Given the description of an element on the screen output the (x, y) to click on. 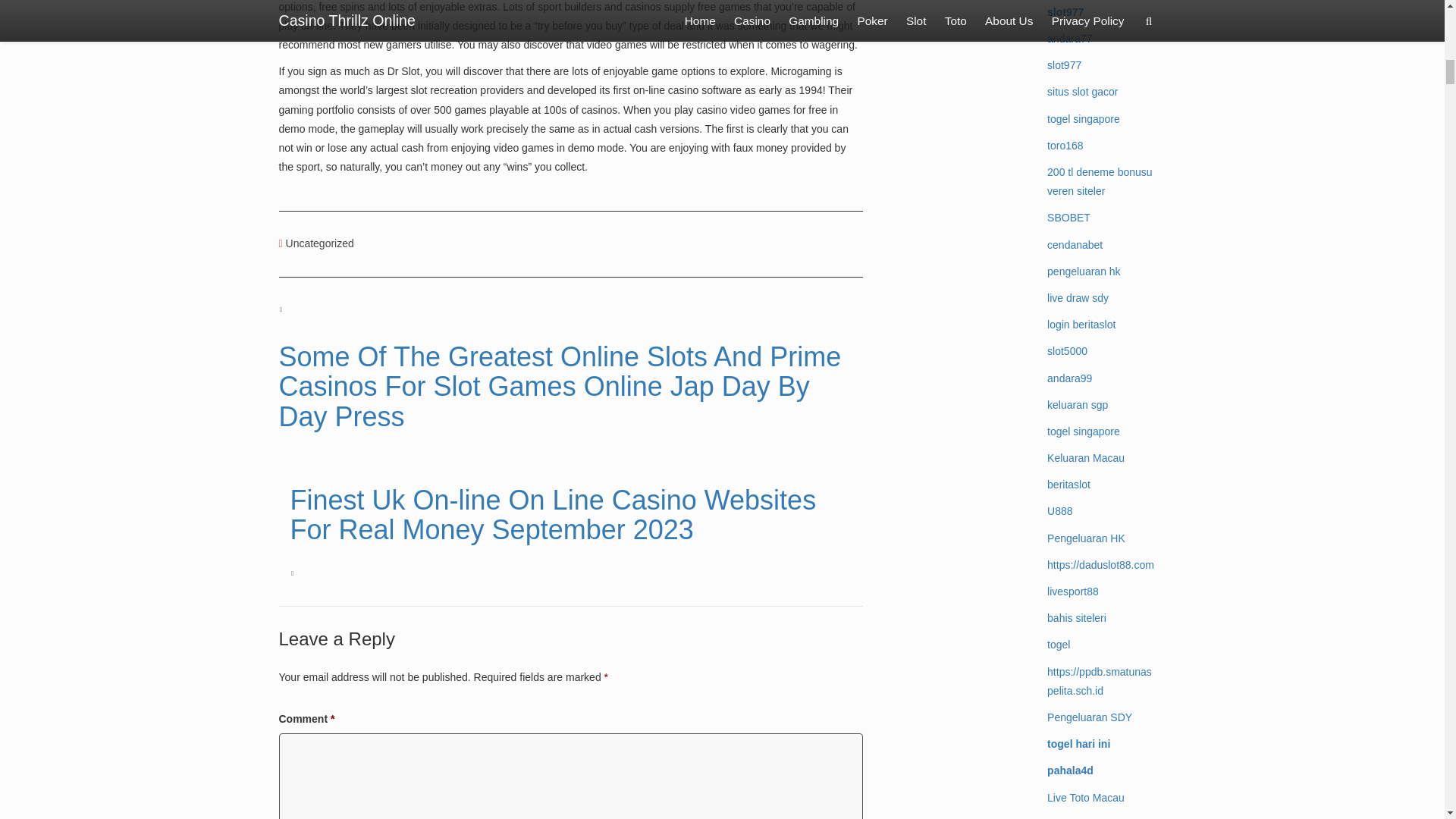
Uncategorized (319, 243)
